Given the description of an element on the screen output the (x, y) to click on. 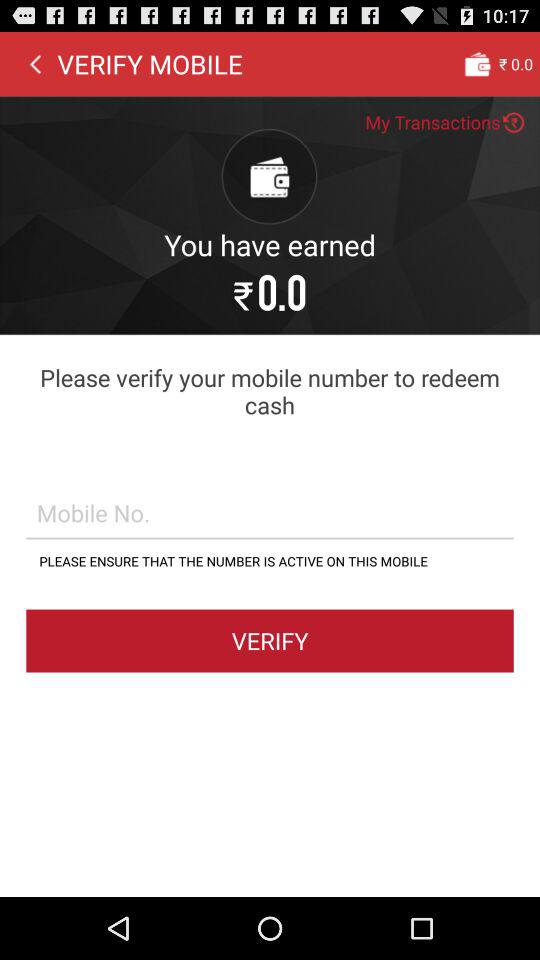
open the item to the right of the verify mobile icon (477, 63)
